Given the description of an element on the screen output the (x, y) to click on. 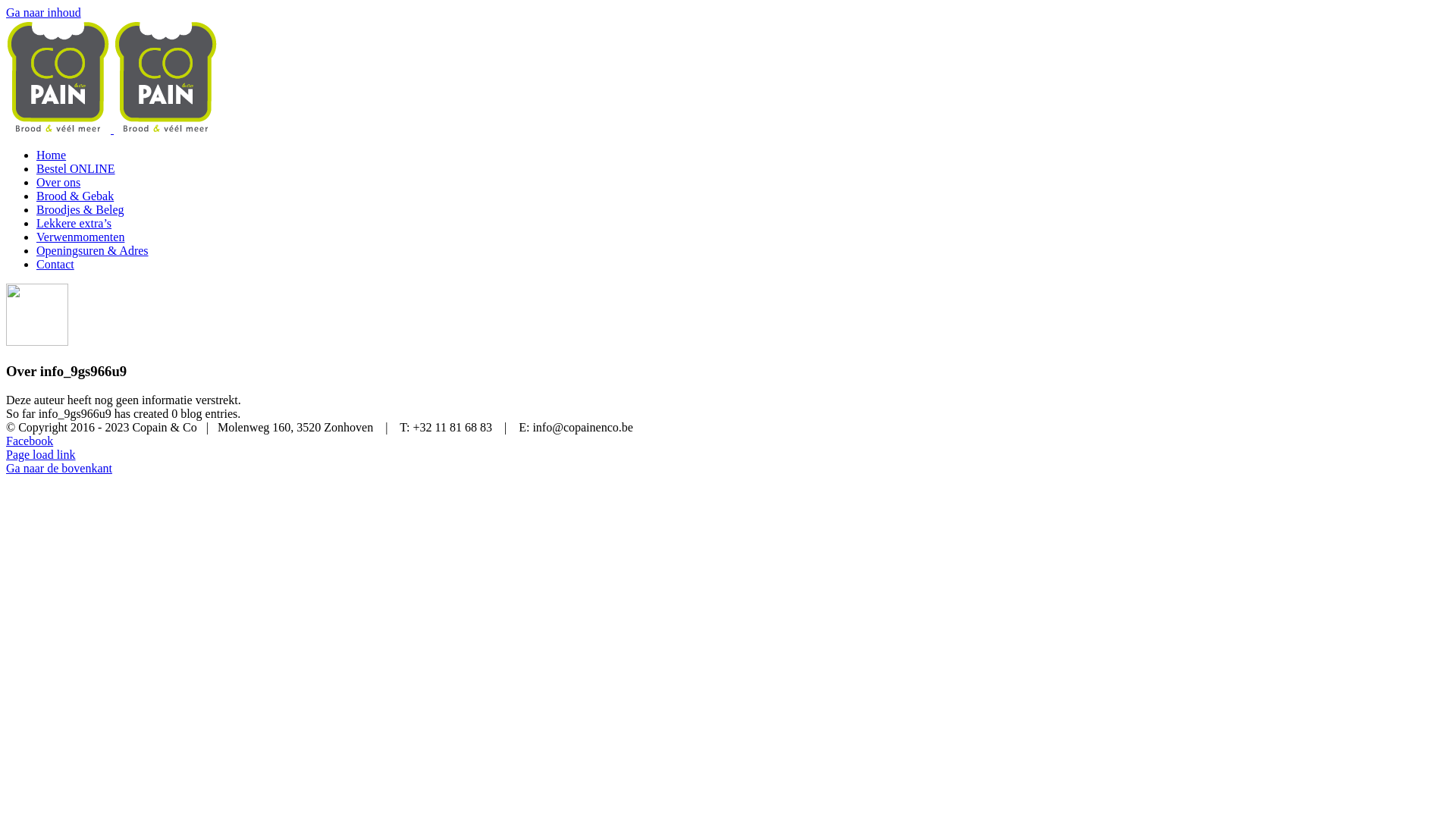
Contact Element type: text (55, 263)
Brood & Gebak Element type: text (74, 195)
Home Element type: text (50, 154)
Broodjes & Beleg Element type: text (80, 209)
Page load link Element type: text (40, 454)
Verwenmomenten Element type: text (80, 236)
Facebook Element type: text (29, 440)
Ga naar inhoud Element type: text (43, 12)
Over ons Element type: text (58, 181)
Openingsuren & Adres Element type: text (92, 250)
Bestel ONLINE Element type: text (75, 168)
Ga naar de bovenkant Element type: text (59, 467)
